Given the description of an element on the screen output the (x, y) to click on. 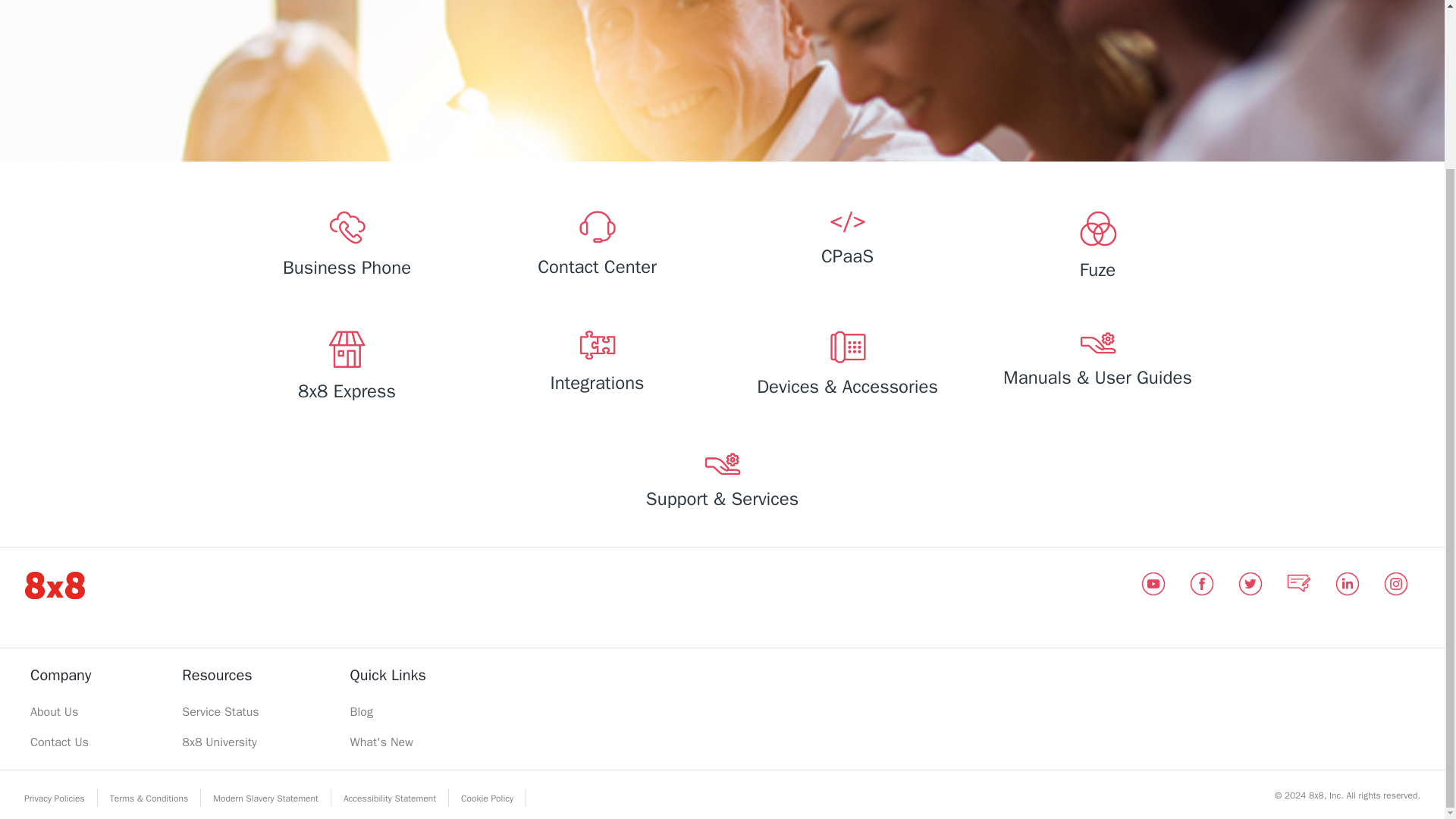
Fuze (1096, 248)
About Us (60, 711)
Contact Us (60, 742)
8x8 Express (346, 368)
Privacy Policies (53, 798)
Business Phone (346, 247)
What's New (387, 742)
Integrations (596, 364)
Accessibility Statement (389, 798)
Homepage (54, 584)
